Given the description of an element on the screen output the (x, y) to click on. 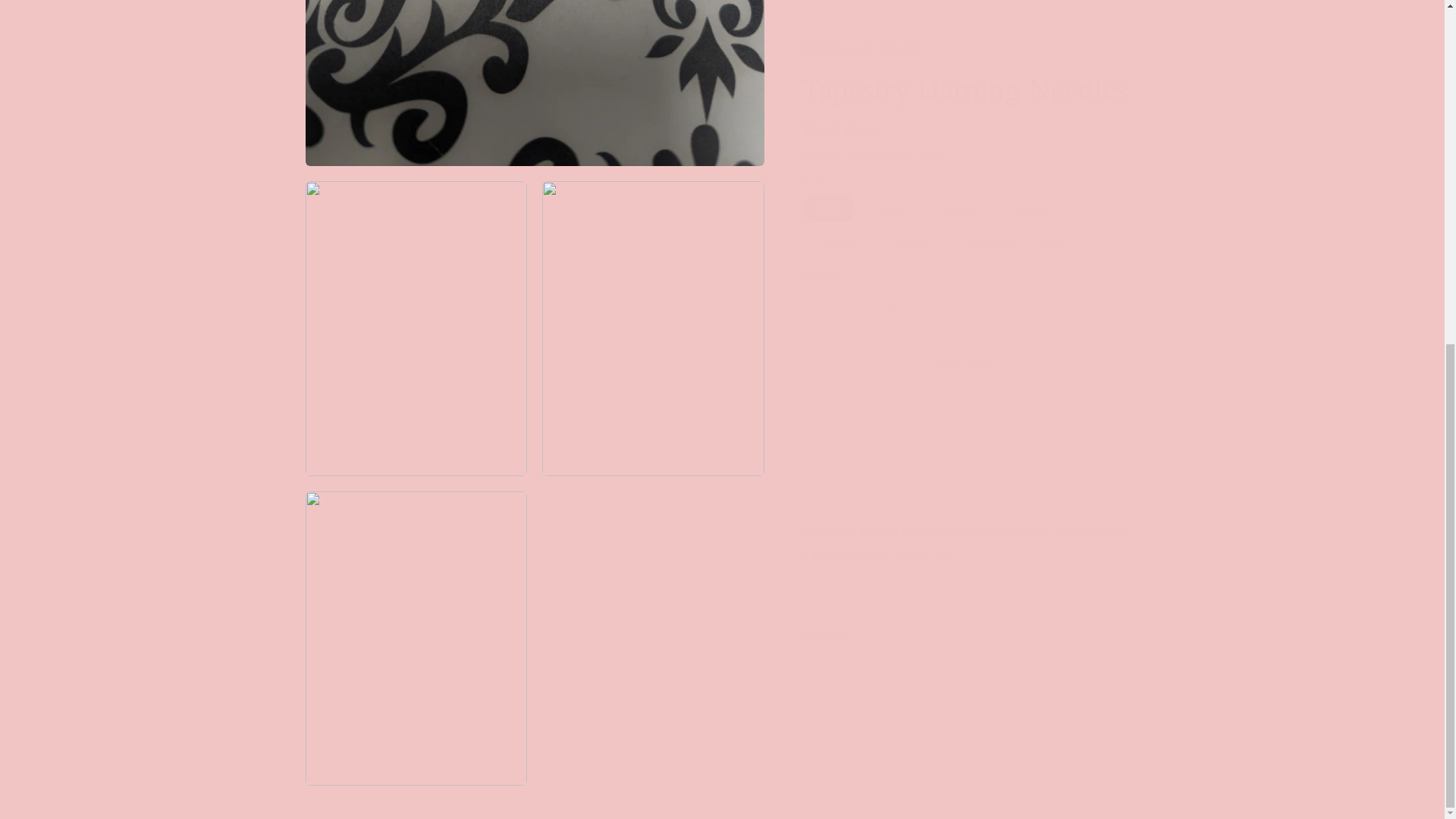
Open media 1 in modal (533, 75)
Open media 3 in modal (652, 313)
Open media 4 in modal (415, 622)
Open media 2 in modal (415, 313)
